Given the description of an element on the screen output the (x, y) to click on. 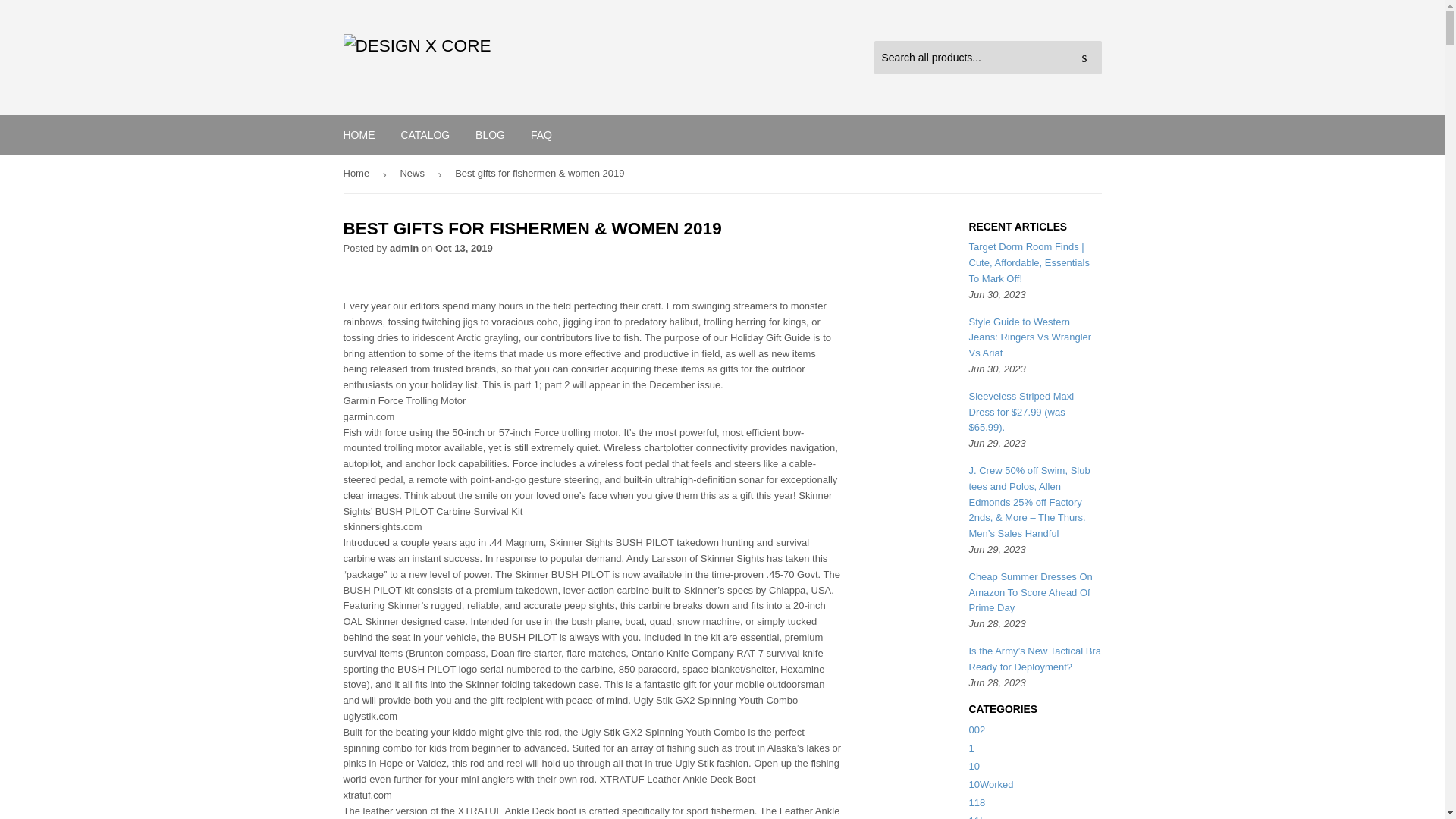
10Worked (991, 784)
Style Guide to Western Jeans: Ringers Vs Wrangler Vs Ariat (1030, 337)
Cheap Summer Dresses On Amazon To Score Ahead Of Prime Day (1031, 592)
HOME (359, 134)
BLOG (490, 134)
CATALOG (424, 134)
Show articles tagged 10 (974, 766)
002 (977, 729)
Search (1084, 58)
FAQ (541, 134)
11I (975, 816)
10 (974, 766)
Show articles tagged 10Worked (991, 784)
Show articles tagged 118 (977, 802)
Show articles tagged 002 (977, 729)
